Given the description of an element on the screen output the (x, y) to click on. 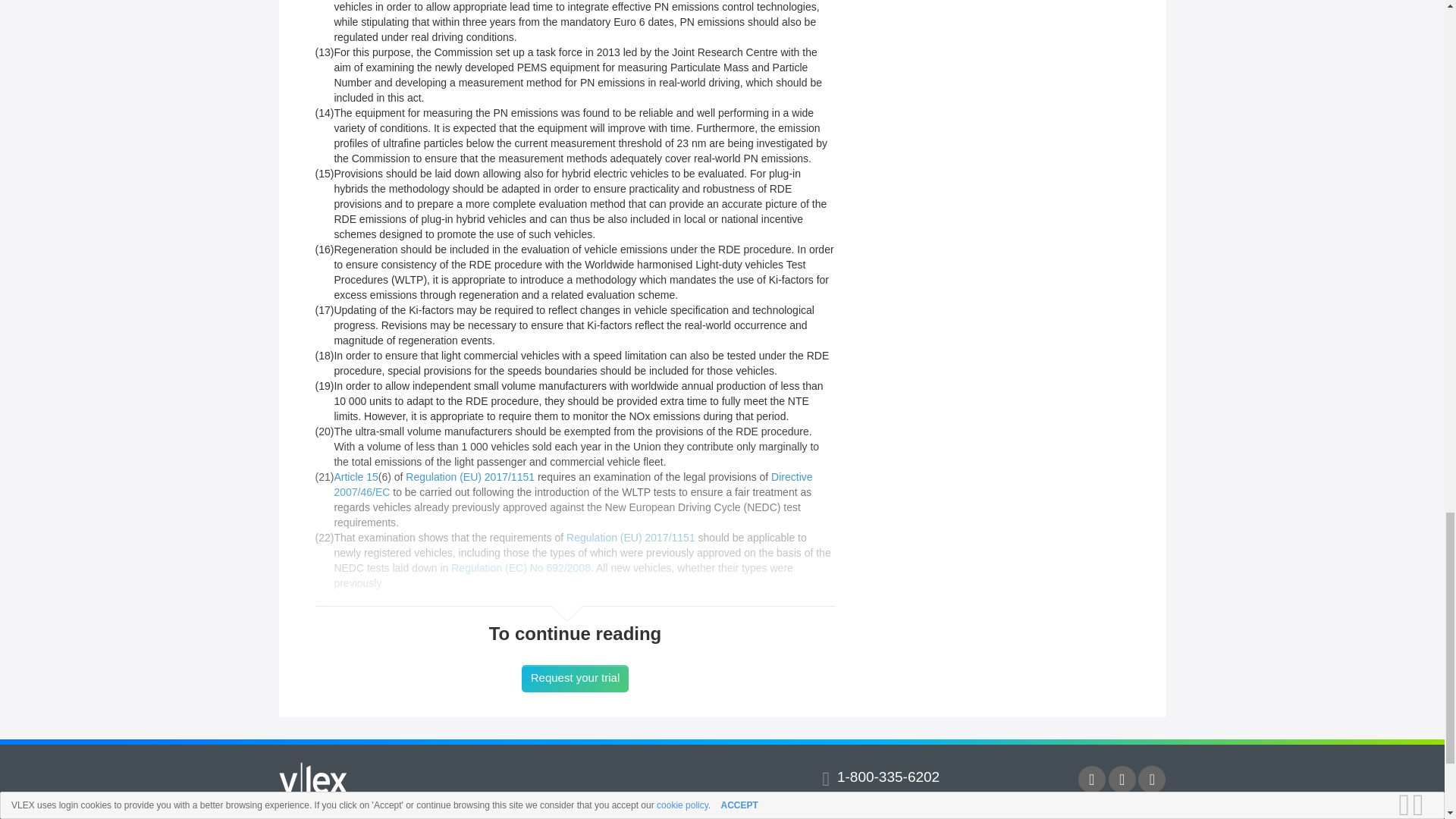
Article 15 (355, 476)
vLex (313, 779)
